Given the description of an element on the screen output the (x, y) to click on. 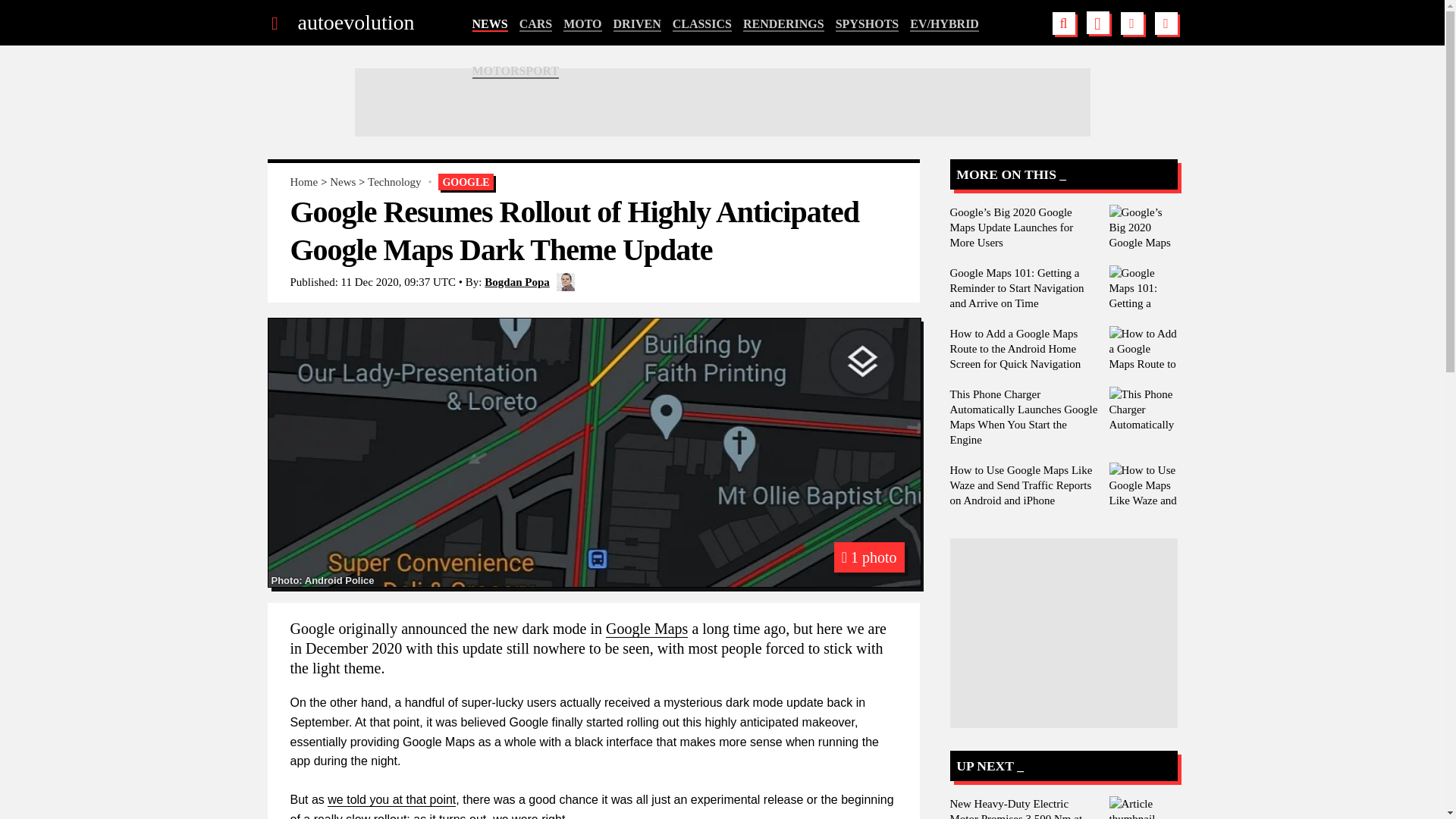
NEWS (488, 24)
CARS (536, 24)
MOTO (582, 24)
autoevolution (355, 22)
SPYSHOTS (867, 24)
DRIVEN (636, 24)
Home (303, 182)
Technology (395, 182)
CLASSICS (702, 24)
News (342, 182)
MOTORSPORT (515, 71)
RENDERINGS (783, 24)
autoevolution (355, 22)
